Given the description of an element on the screen output the (x, y) to click on. 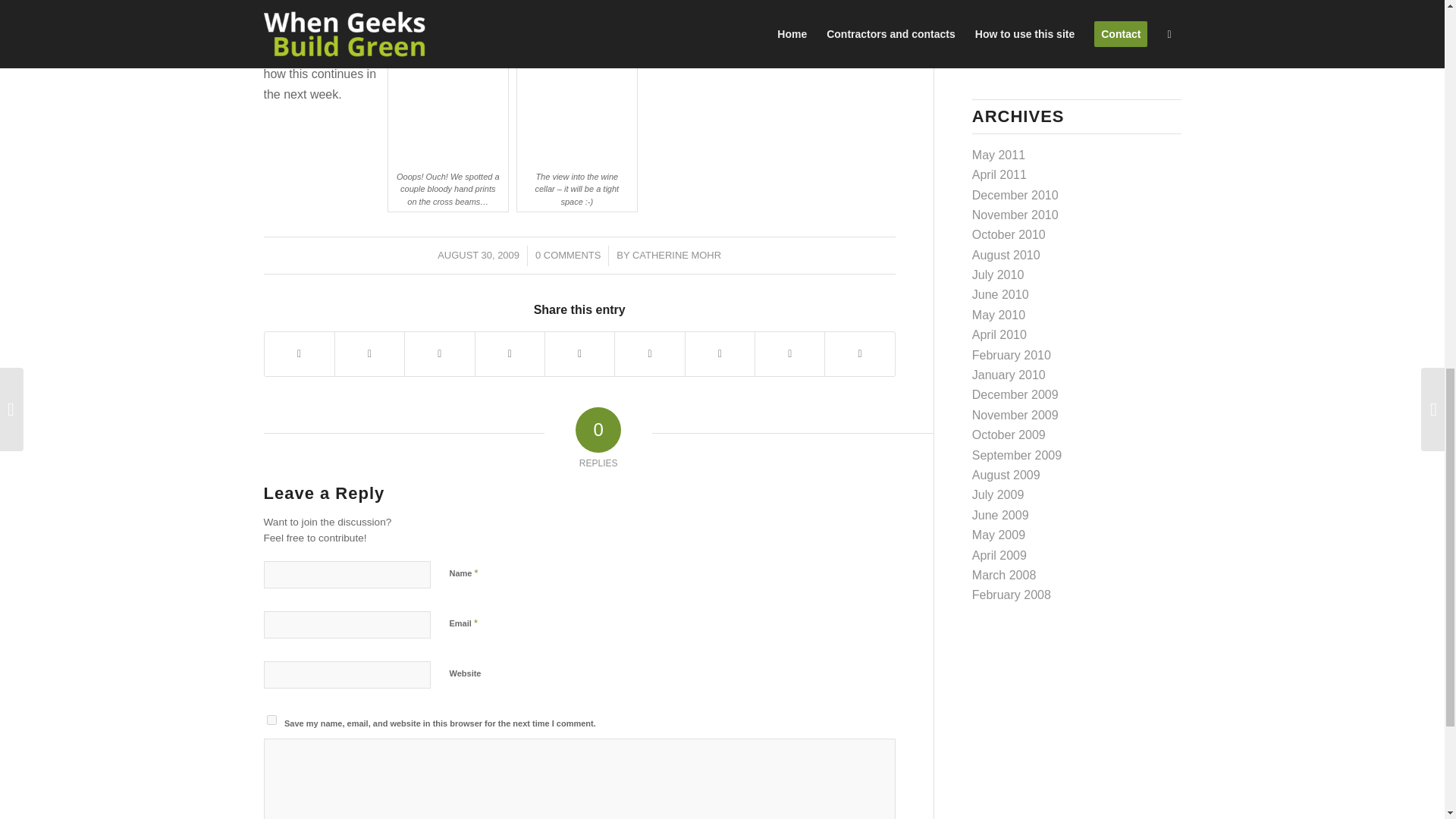
0 COMMENTS (567, 255)
yes (271, 719)
CATHERINE MOHR (675, 255)
Posts by Catherine Mohr (675, 255)
